Given the description of an element on the screen output the (x, y) to click on. 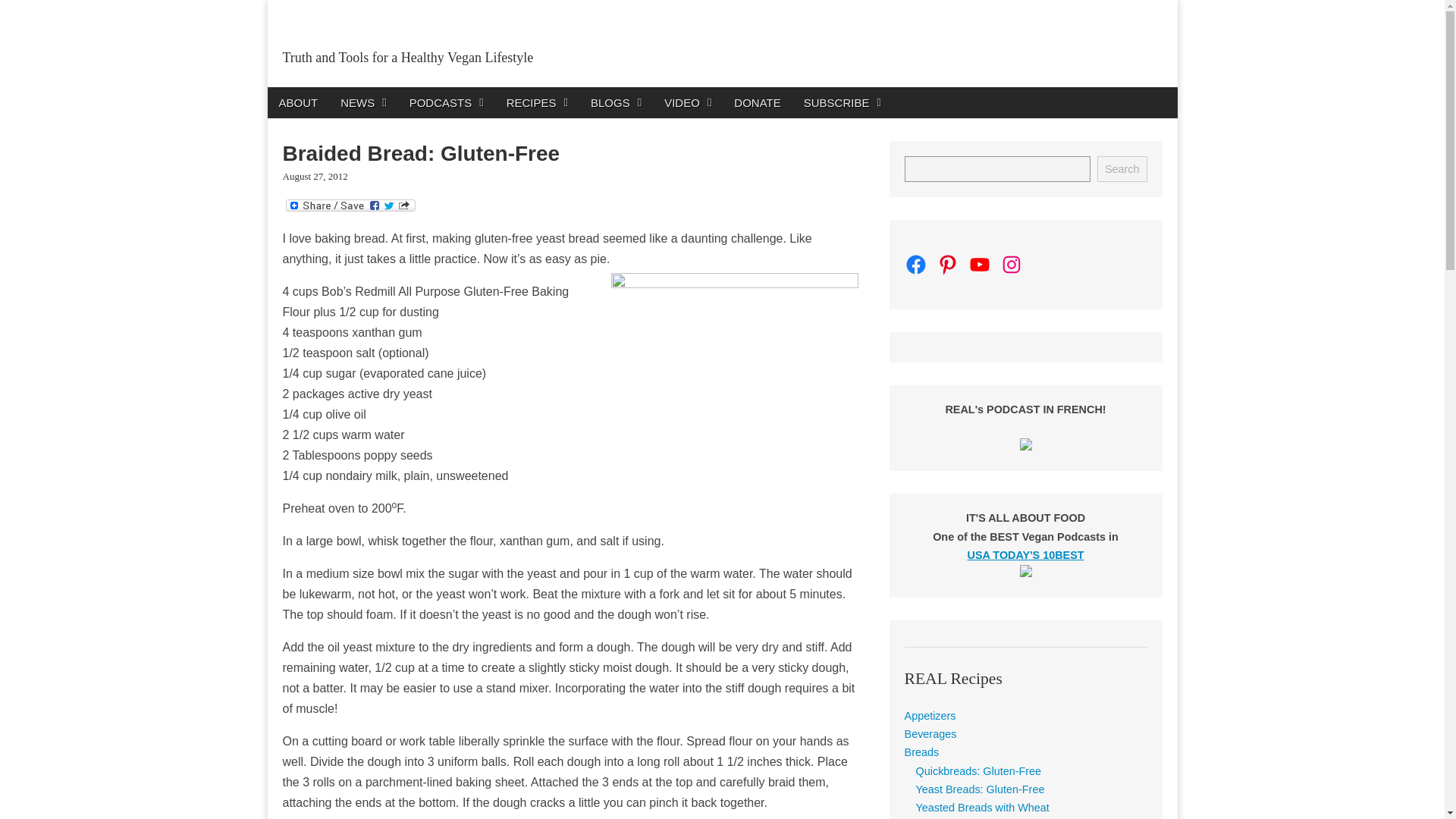
BLOGS (615, 101)
RECIPES (537, 101)
braided-bread (735, 365)
Donate to REAL  (757, 101)
ABOUT (297, 101)
VIDEO (687, 101)
NEWS (363, 101)
DONATE (757, 101)
SUBSCRIBE (842, 101)
PODCASTS (446, 101)
